Given the description of an element on the screen output the (x, y) to click on. 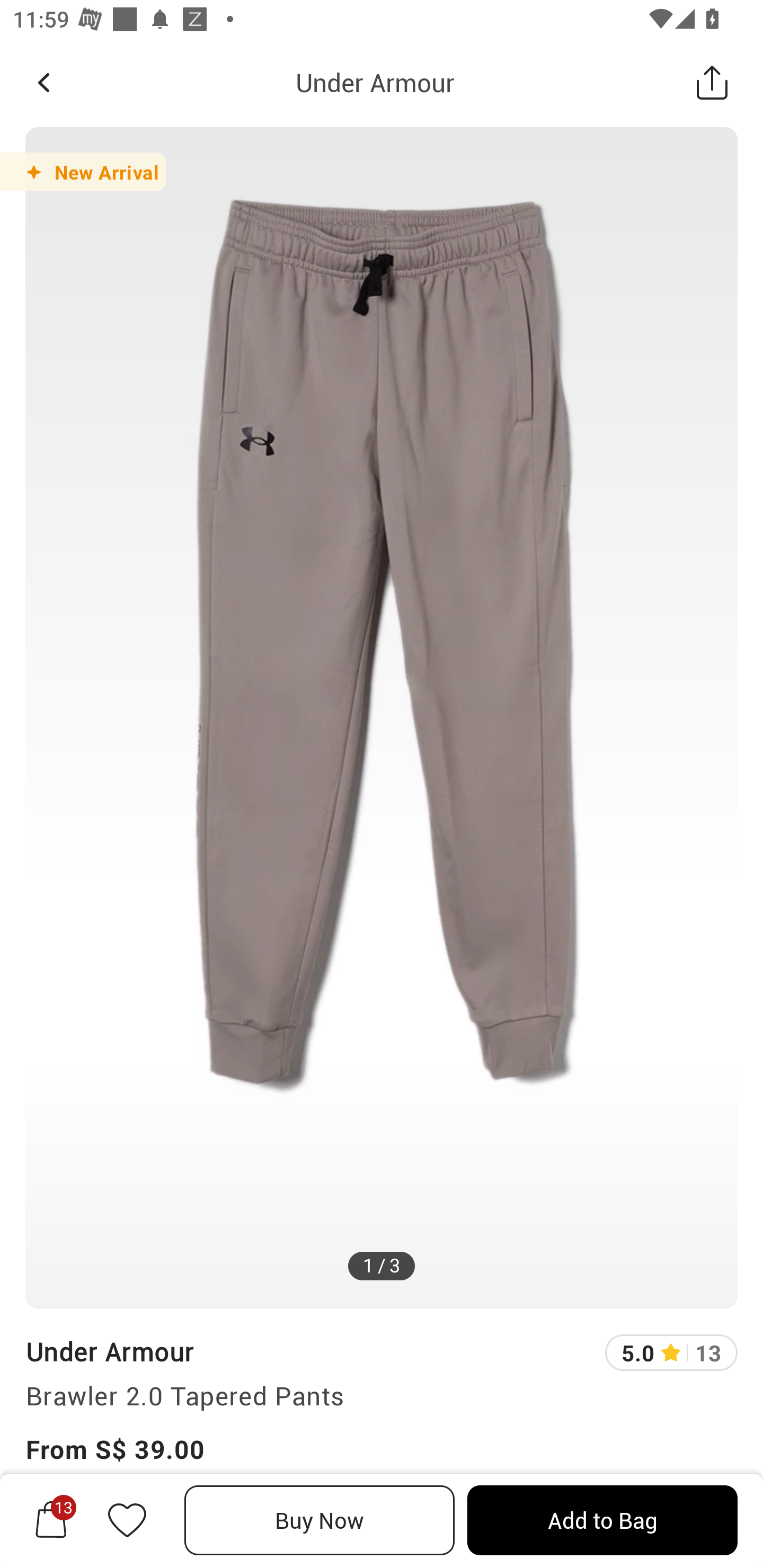
Under Armour (375, 82)
Share this Product (711, 82)
Under Armour (109, 1351)
5.0 13 (671, 1352)
Buy Now (319, 1519)
Add to Bag (601, 1519)
13 (50, 1520)
